Given the description of an element on the screen output the (x, y) to click on. 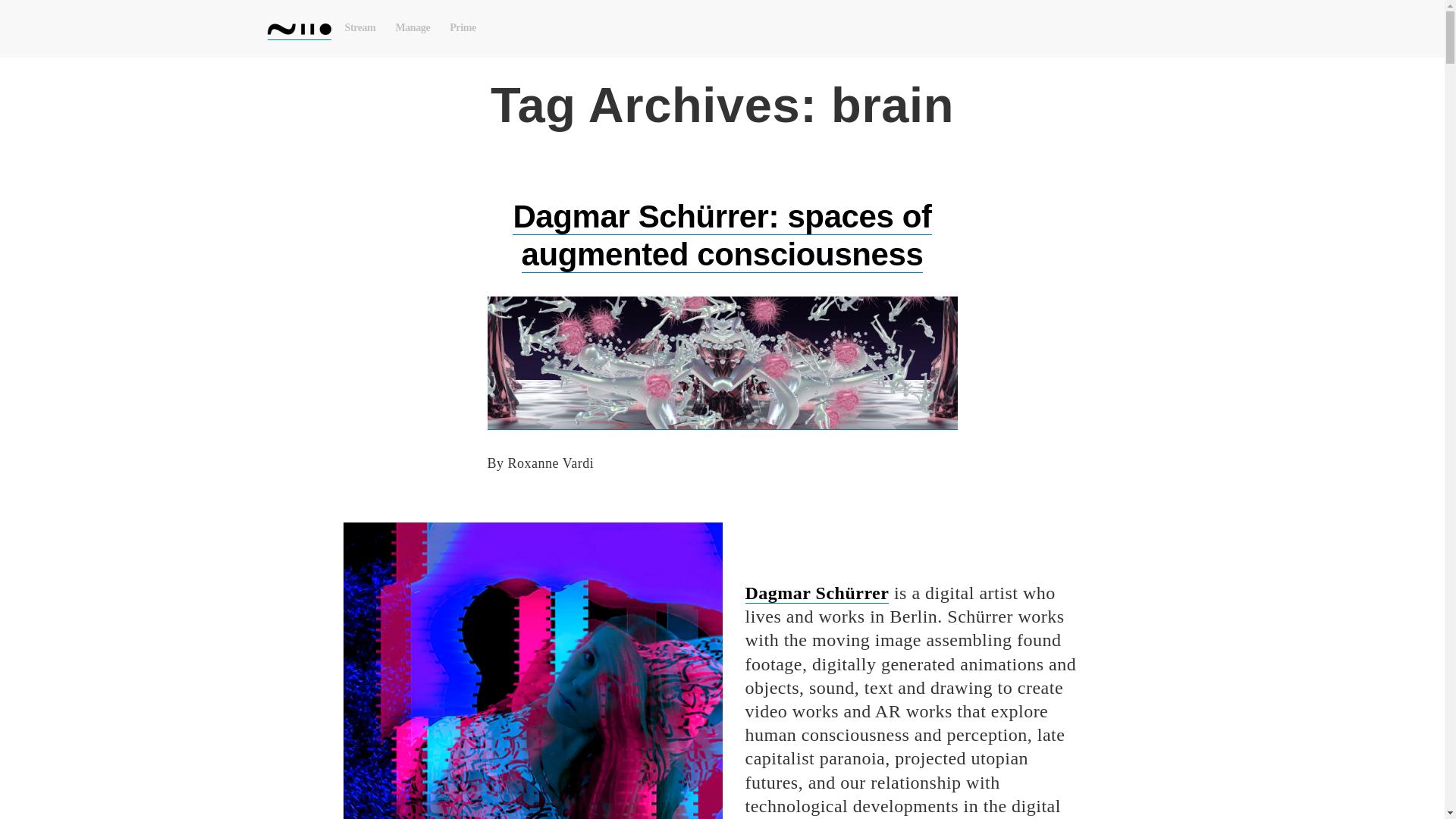
Manage (412, 27)
Prime (462, 27)
Stream (359, 27)
